Given the description of an element on the screen output the (x, y) to click on. 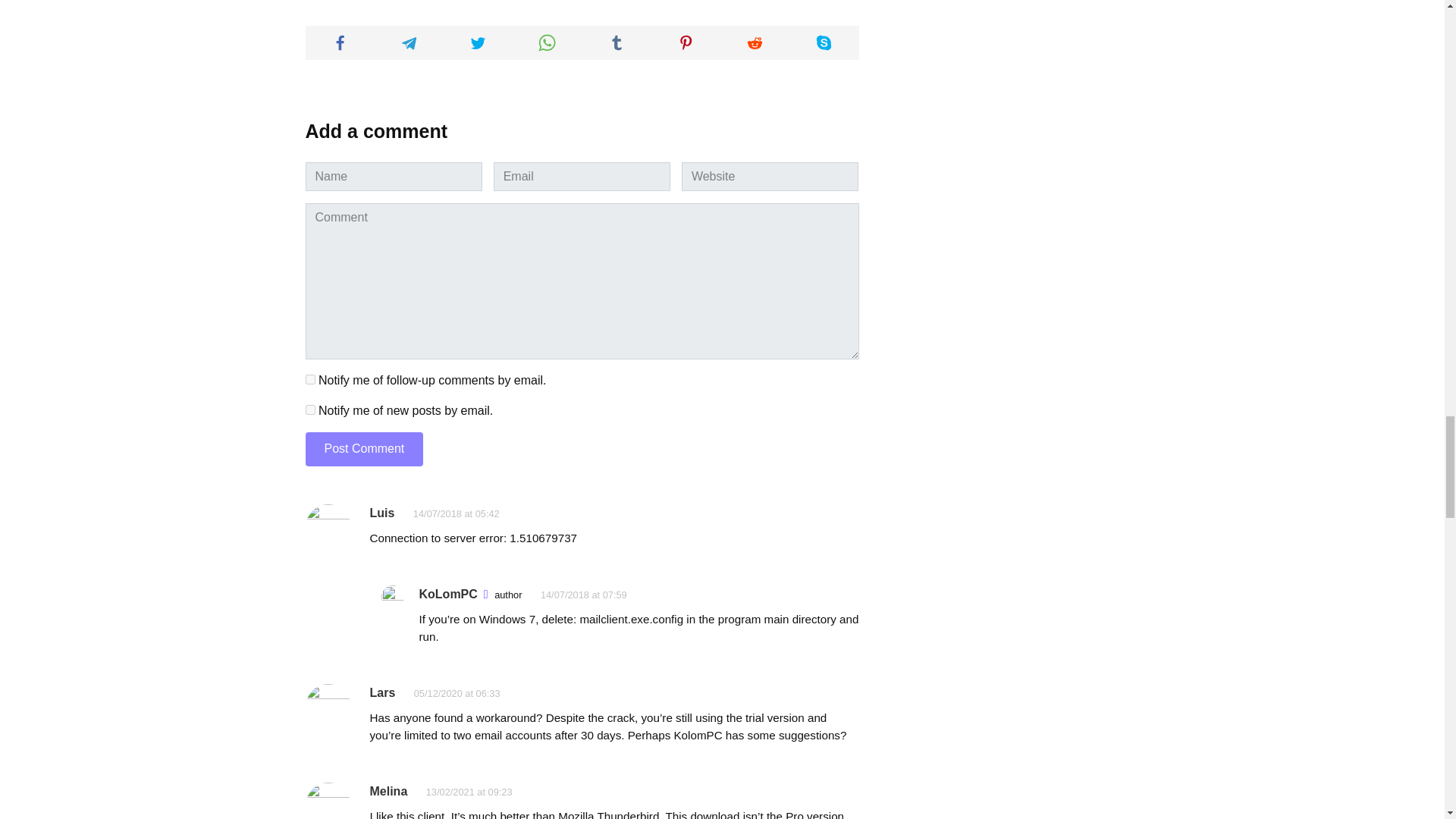
subscribe (309, 379)
Post Comment (363, 449)
subscribe (309, 409)
